Given the description of an element on the screen output the (x, y) to click on. 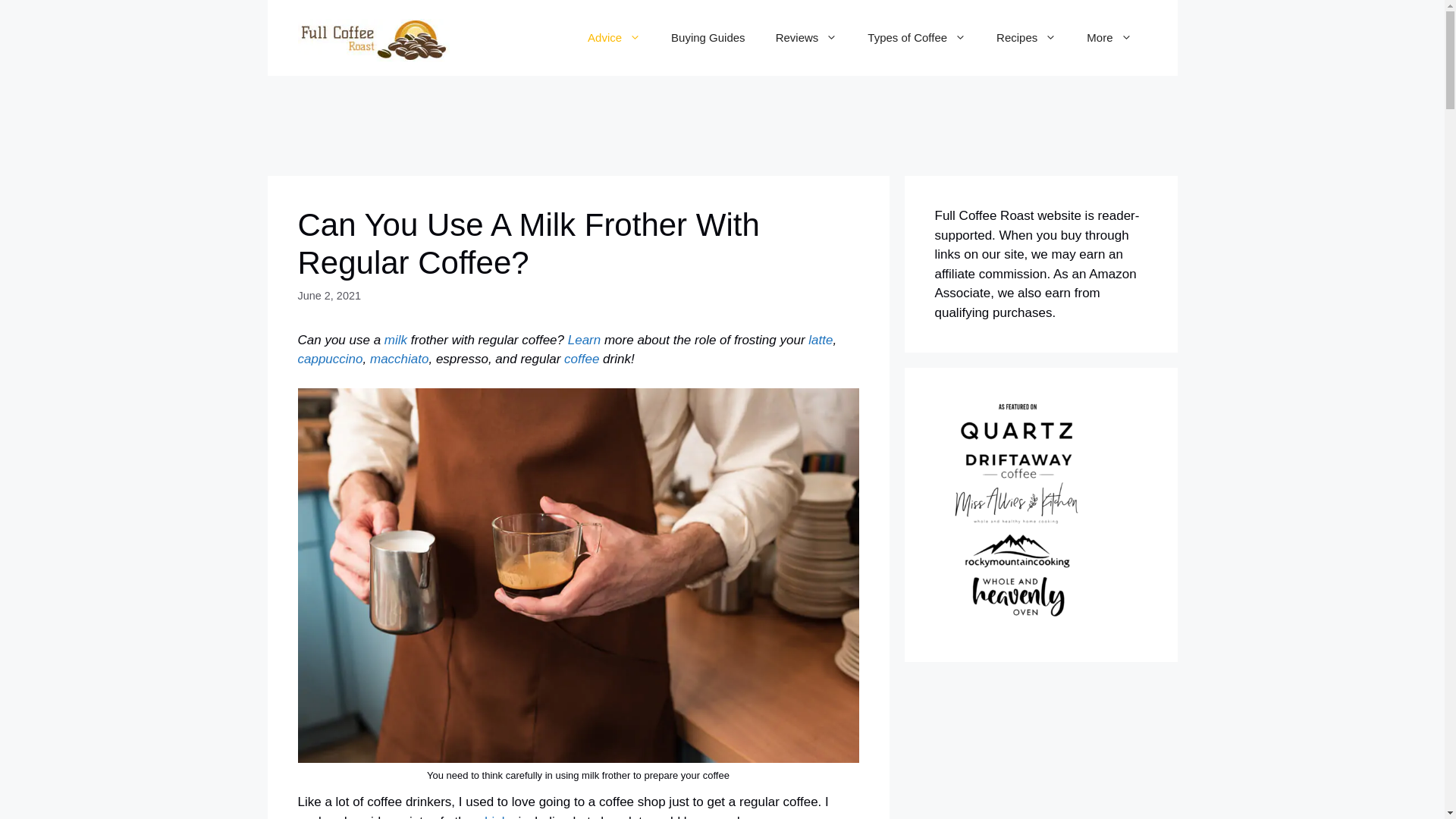
beverage (496, 816)
Types of Coffee (916, 37)
Buying Guides (708, 37)
Cappuccinos (329, 359)
Recipes (1026, 37)
More (1109, 37)
Advice (614, 37)
Reviews (806, 37)
